Given the description of an element on the screen output the (x, y) to click on. 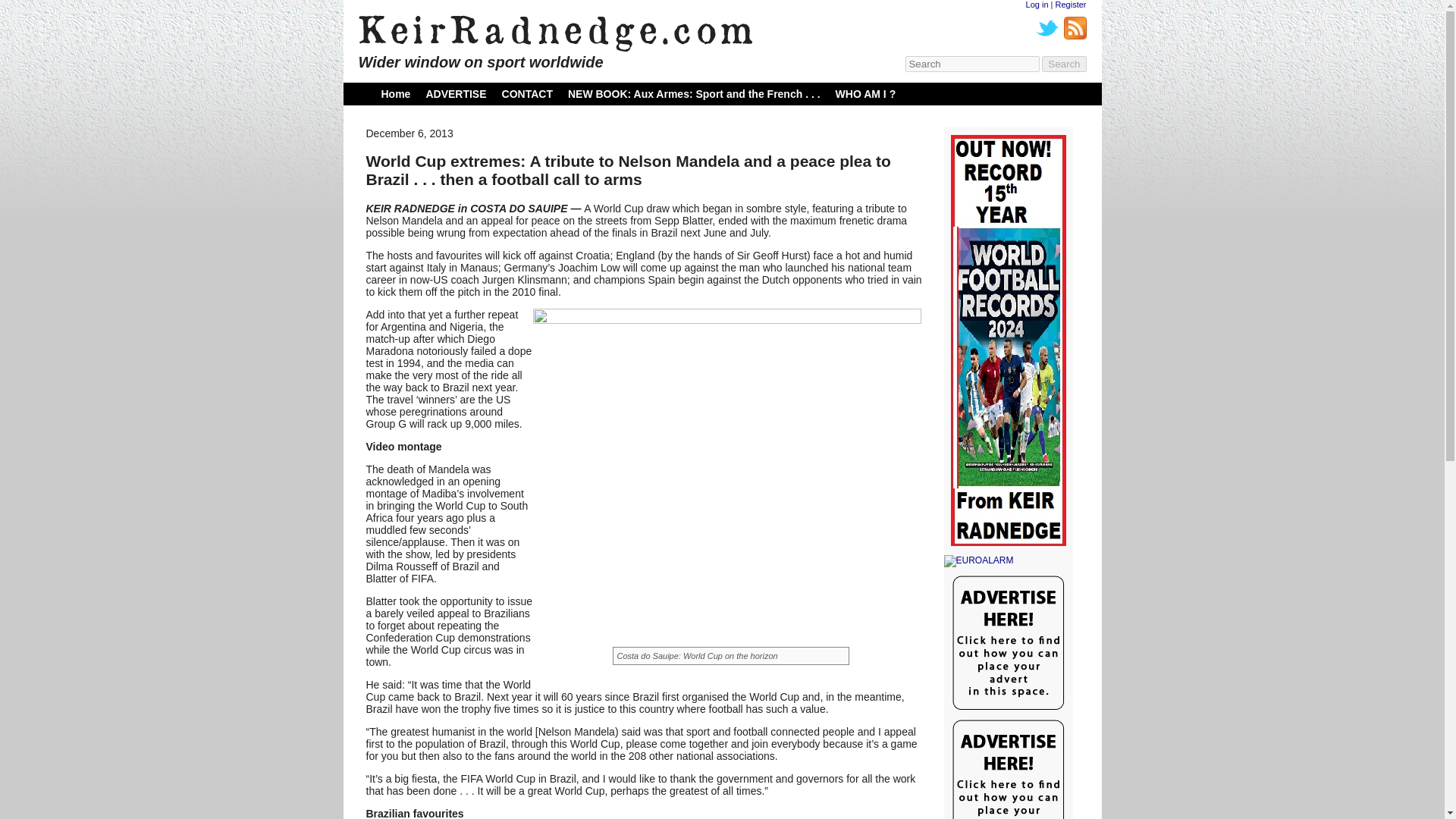
WHO AM I ? (865, 93)
Search (1064, 64)
Log in (1037, 4)
Home (395, 93)
NEW BOOK: Aux Armes: Sport and the French . . . (694, 93)
ADVERTISE (455, 93)
CONTACT (527, 93)
Register (1070, 4)
EUROALARM (1007, 561)
